Given the description of an element on the screen output the (x, y) to click on. 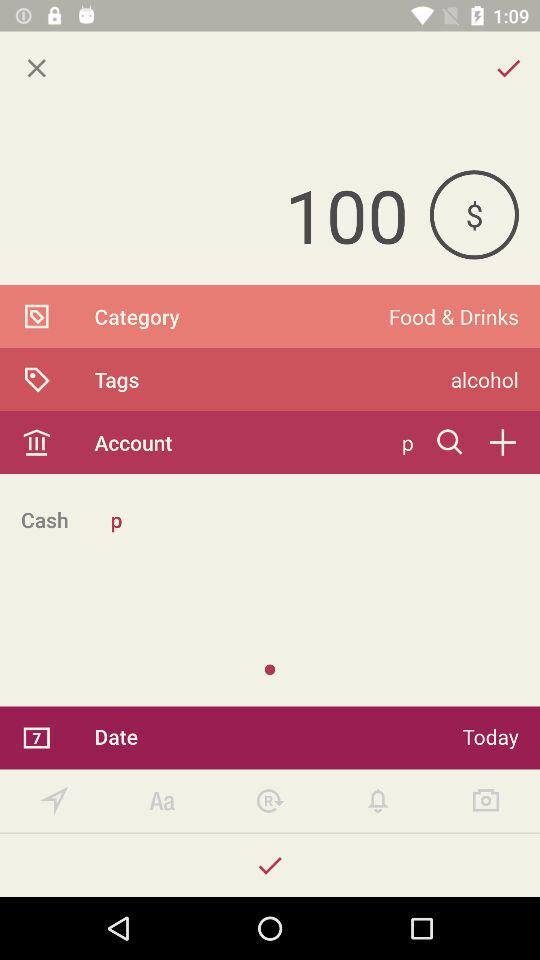
add account (502, 442)
